Given the description of an element on the screen output the (x, y) to click on. 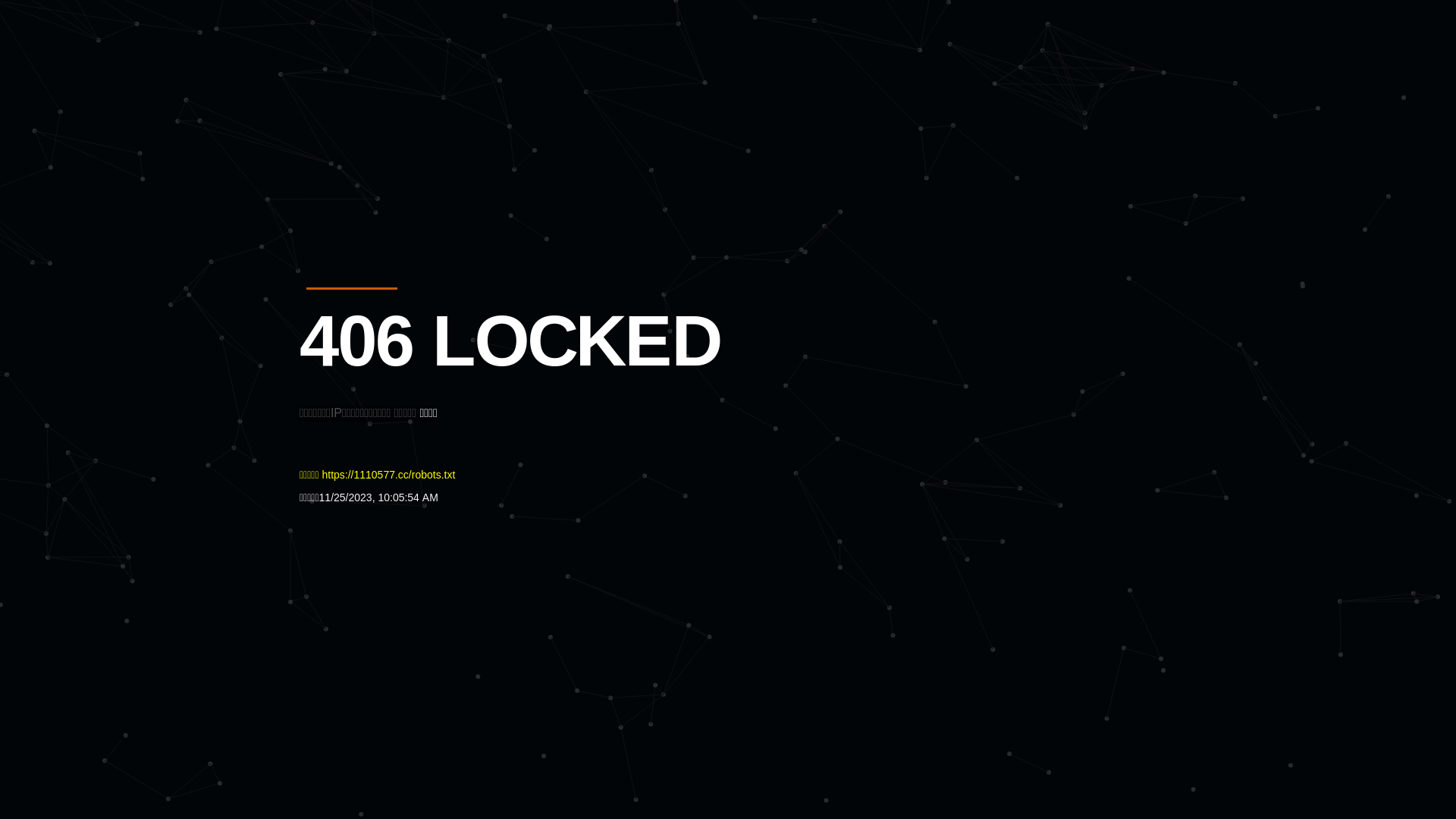
Quatro Element type: text (410, 86)
